Given the description of an element on the screen output the (x, y) to click on. 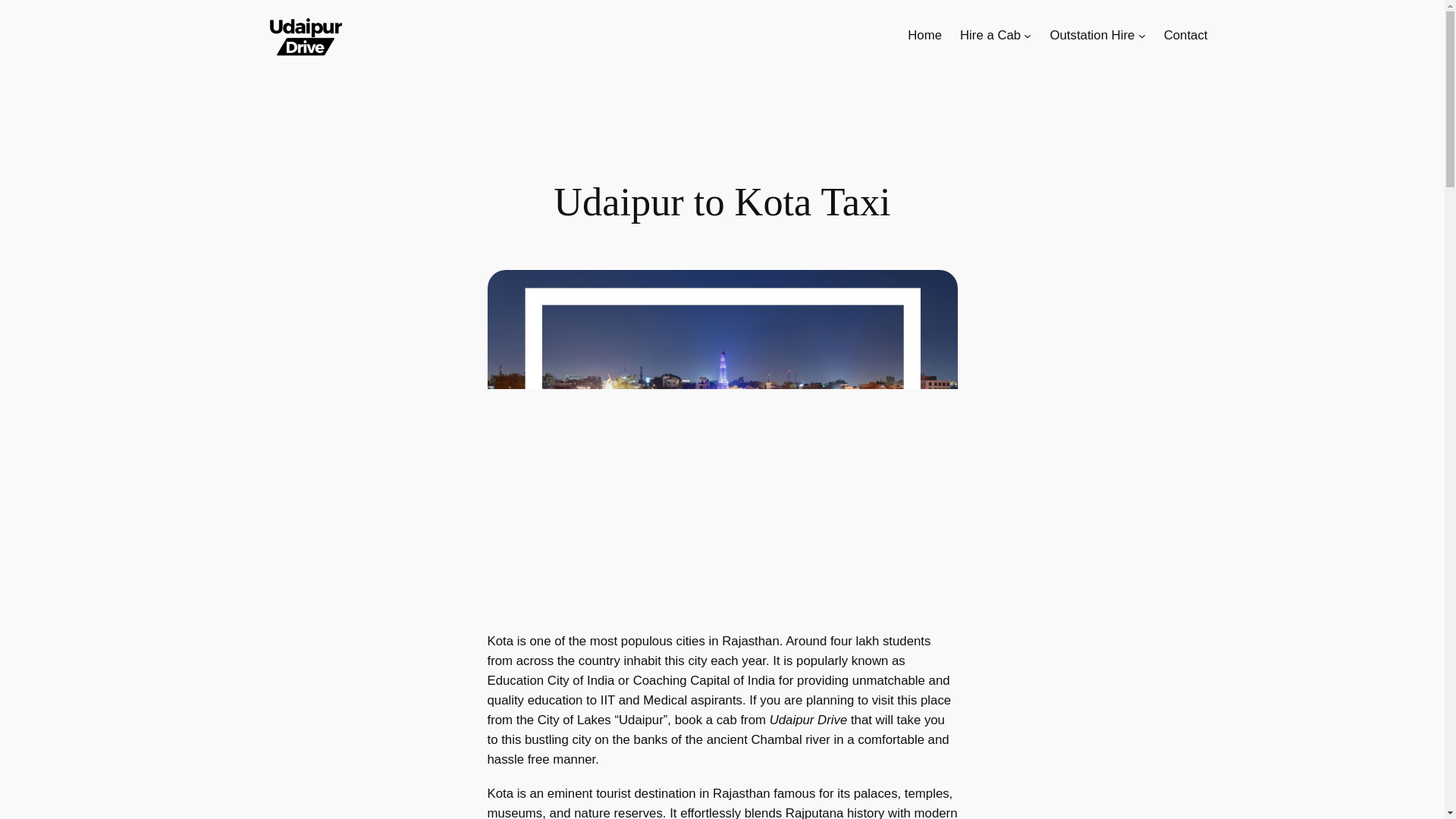
Udaipur Taxi Service (989, 35)
Udaipur Taxi Service (924, 35)
Hire a Cab (989, 35)
Contact Udaipur Taxi Service (1185, 35)
Contact (1185, 35)
Home (924, 35)
Outstation Hire (1091, 35)
